Given the description of an element on the screen output the (x, y) to click on. 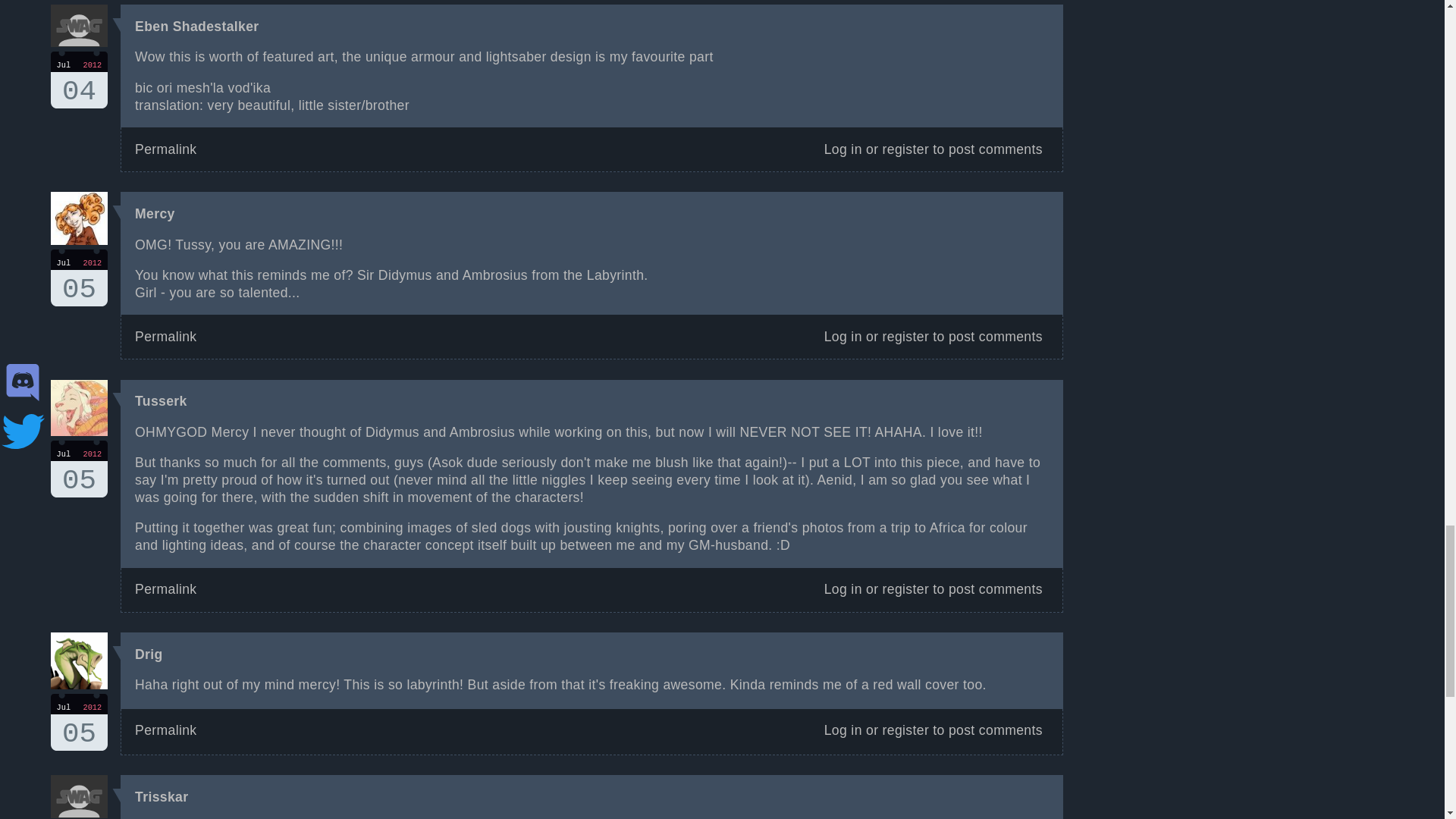
View user profile. (78, 722)
View user profile. (78, 277)
View user profile. (78, 468)
View user profile. (154, 213)
